Given the description of an element on the screen output the (x, y) to click on. 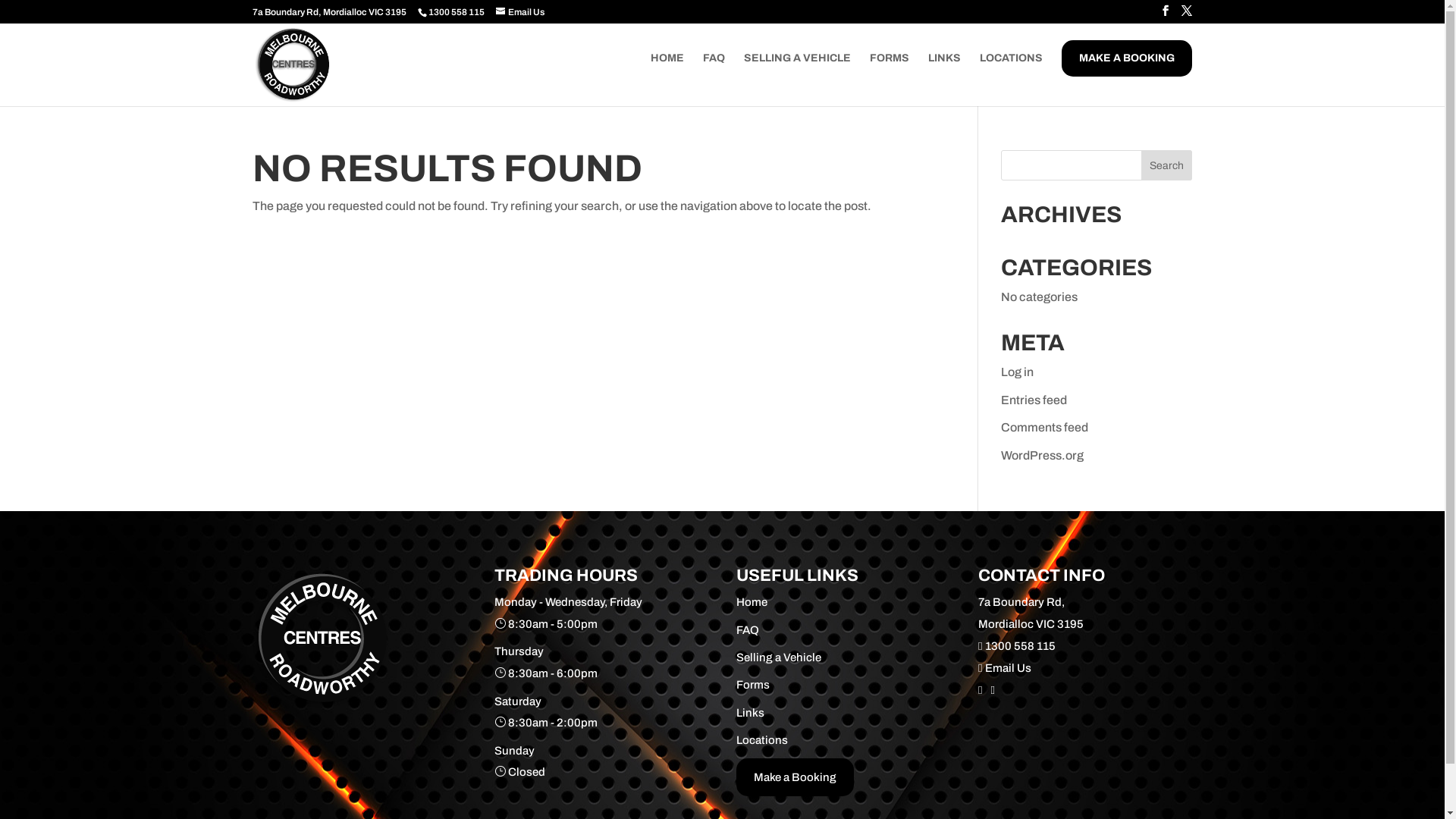
7a Boundary Rd, Mordialloc VIC 3195 Element type: text (329, 11)
Home Element type: text (751, 602)
LINKS Element type: text (944, 79)
Make a Booking Element type: text (794, 777)
7a Boundary Rd,
Mordialloc VIC 3195 Element type: text (1030, 613)
HOME Element type: text (667, 79)
1300 558 115 Element type: text (1016, 646)
MAKE A BOOKING Element type: text (1126, 58)
Email Us Element type: text (1004, 668)
FORMS Element type: text (889, 79)
Log in Element type: text (1017, 371)
Search Element type: text (1166, 165)
FAQ Element type: text (713, 79)
Comments feed Element type: text (1044, 426)
Links Element type: text (750, 712)
Forms Element type: text (752, 684)
Email Us Element type: text (519, 11)
1300 558 115 Element type: text (450, 11)
Entries feed Element type: text (1033, 399)
LOCATIONS Element type: text (1010, 79)
Selling a Vehicle Element type: text (778, 657)
Locations Element type: text (761, 740)
WordPress.org Element type: text (1042, 454)
SELLING A VEHICLE Element type: text (796, 79)
FAQ Element type: text (747, 630)
